Given the description of an element on the screen output the (x, y) to click on. 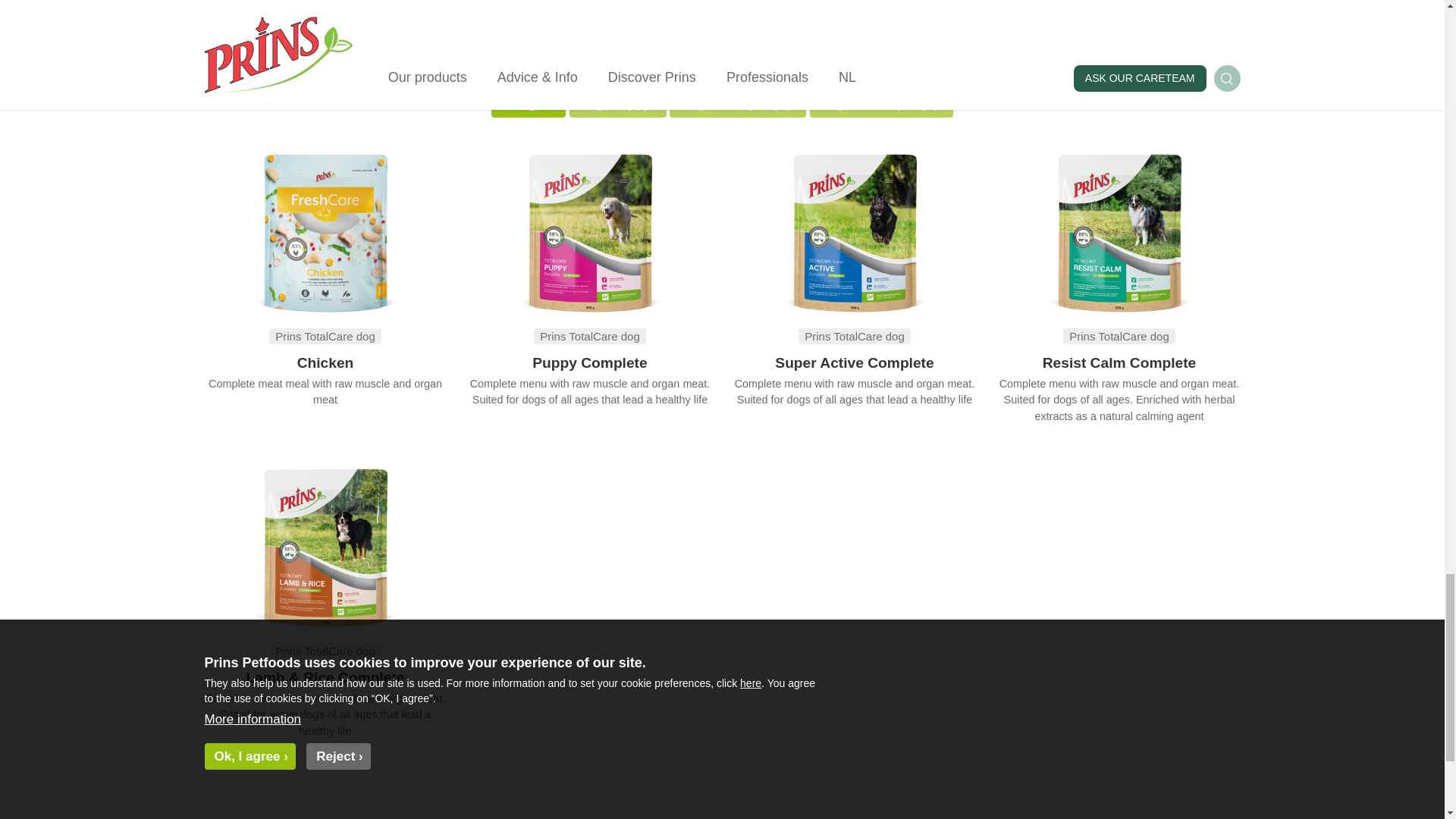
Dog, Puppy (617, 103)
Chicken (325, 362)
All ages (529, 103)
Super Active Complete (853, 362)
Resist Calm Complete (1119, 362)
Puppy Complete (589, 362)
